Given the description of an element on the screen output the (x, y) to click on. 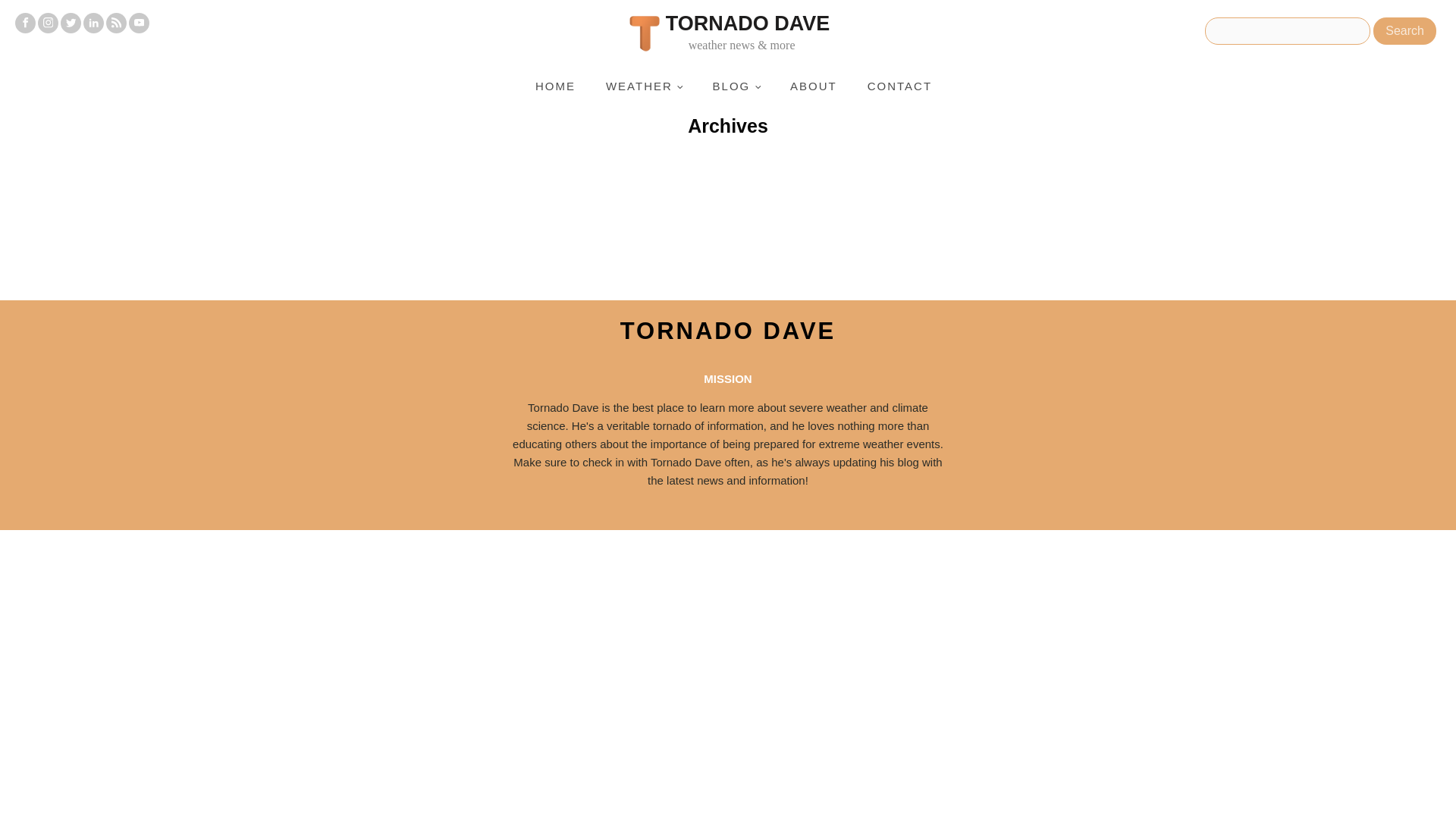
HOME (555, 86)
Search (1404, 31)
TORNADO DAVE (727, 330)
ABOUT (812, 86)
CONTACT (899, 86)
Search (1404, 31)
BLOG (735, 86)
WEATHER (644, 86)
